Given the description of an element on the screen output the (x, y) to click on. 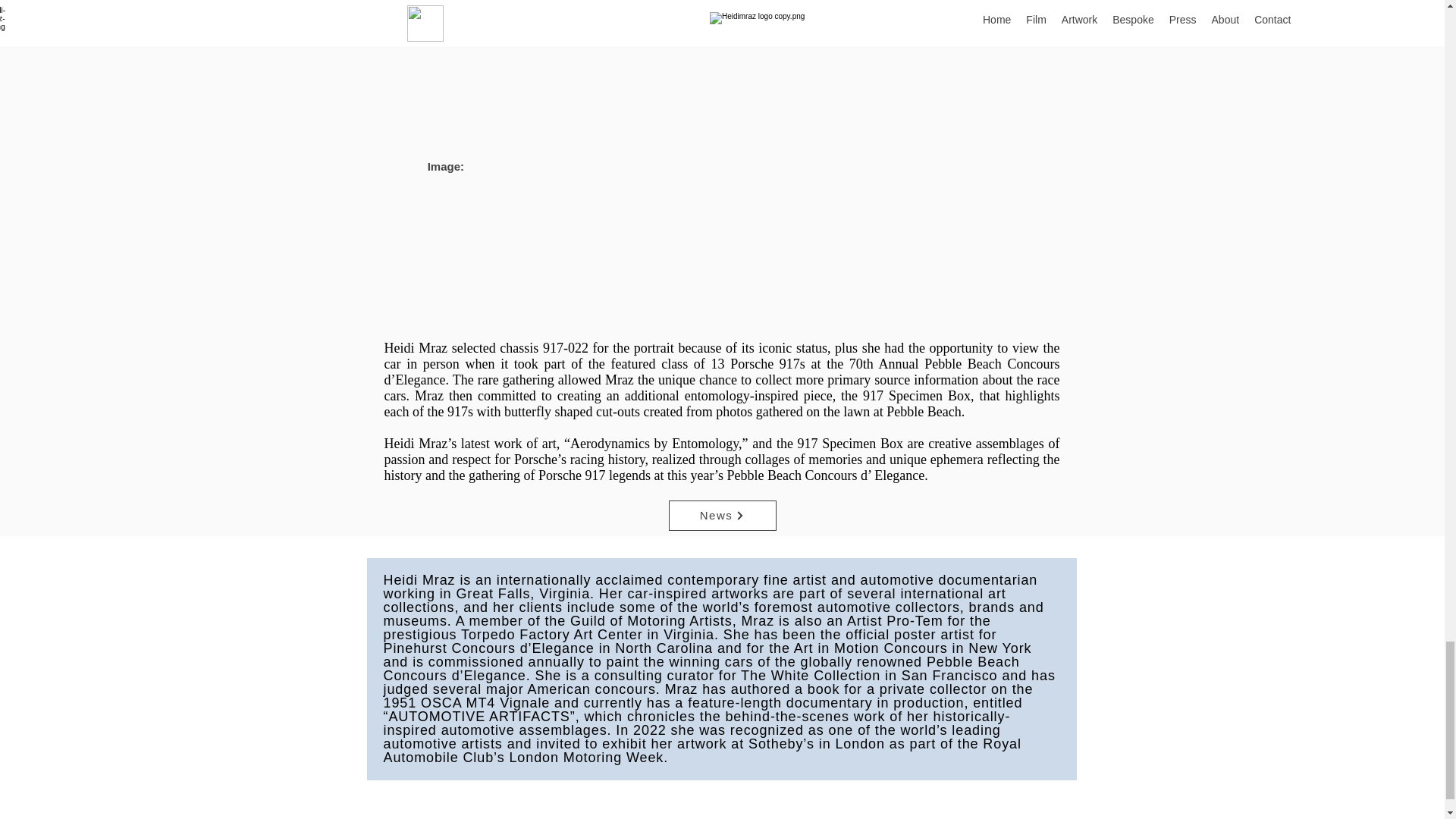
News (722, 515)
